Given the description of an element on the screen output the (x, y) to click on. 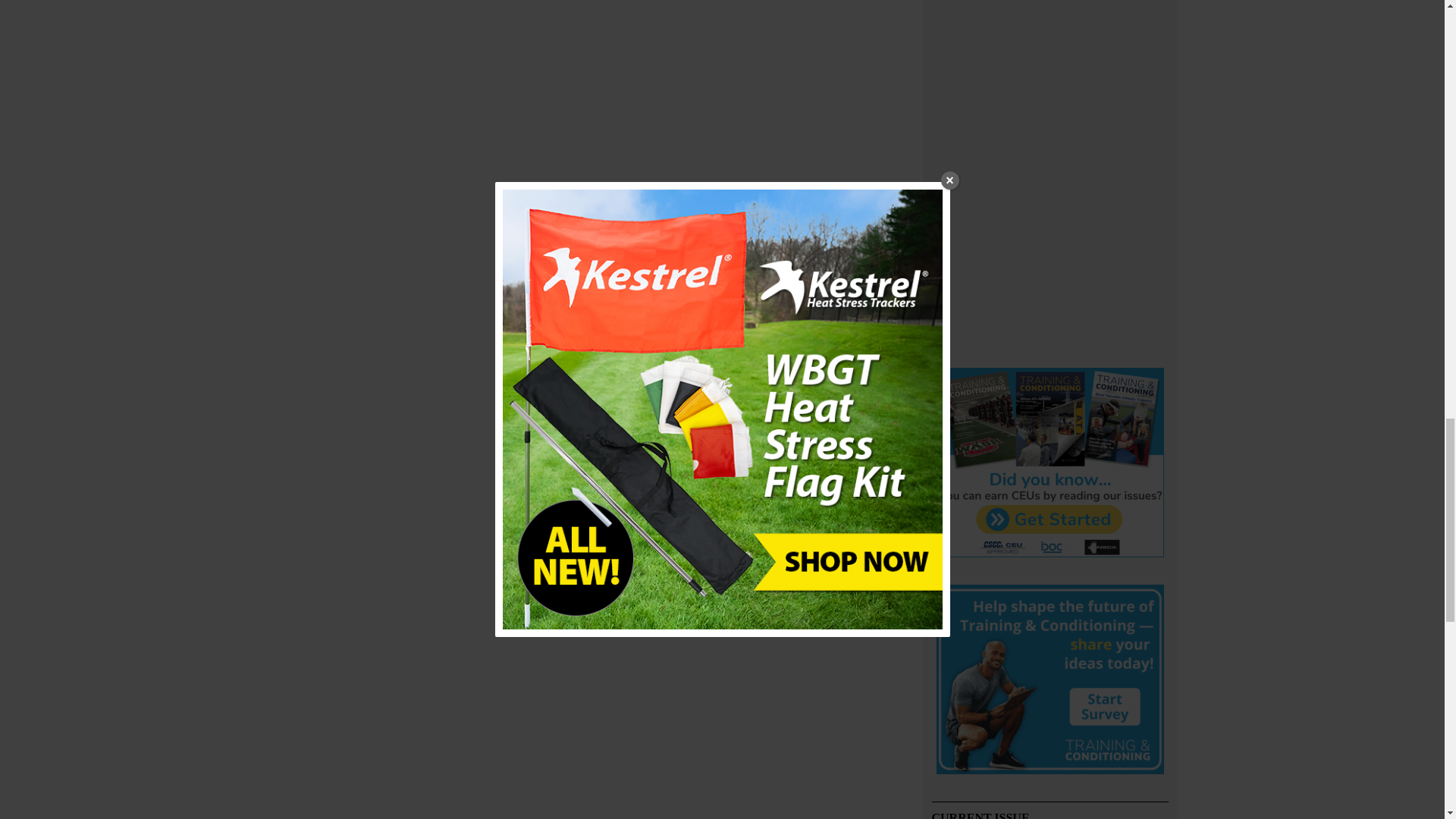
CEU (1049, 464)
Survey  (1049, 681)
